Given the description of an element on the screen output the (x, y) to click on. 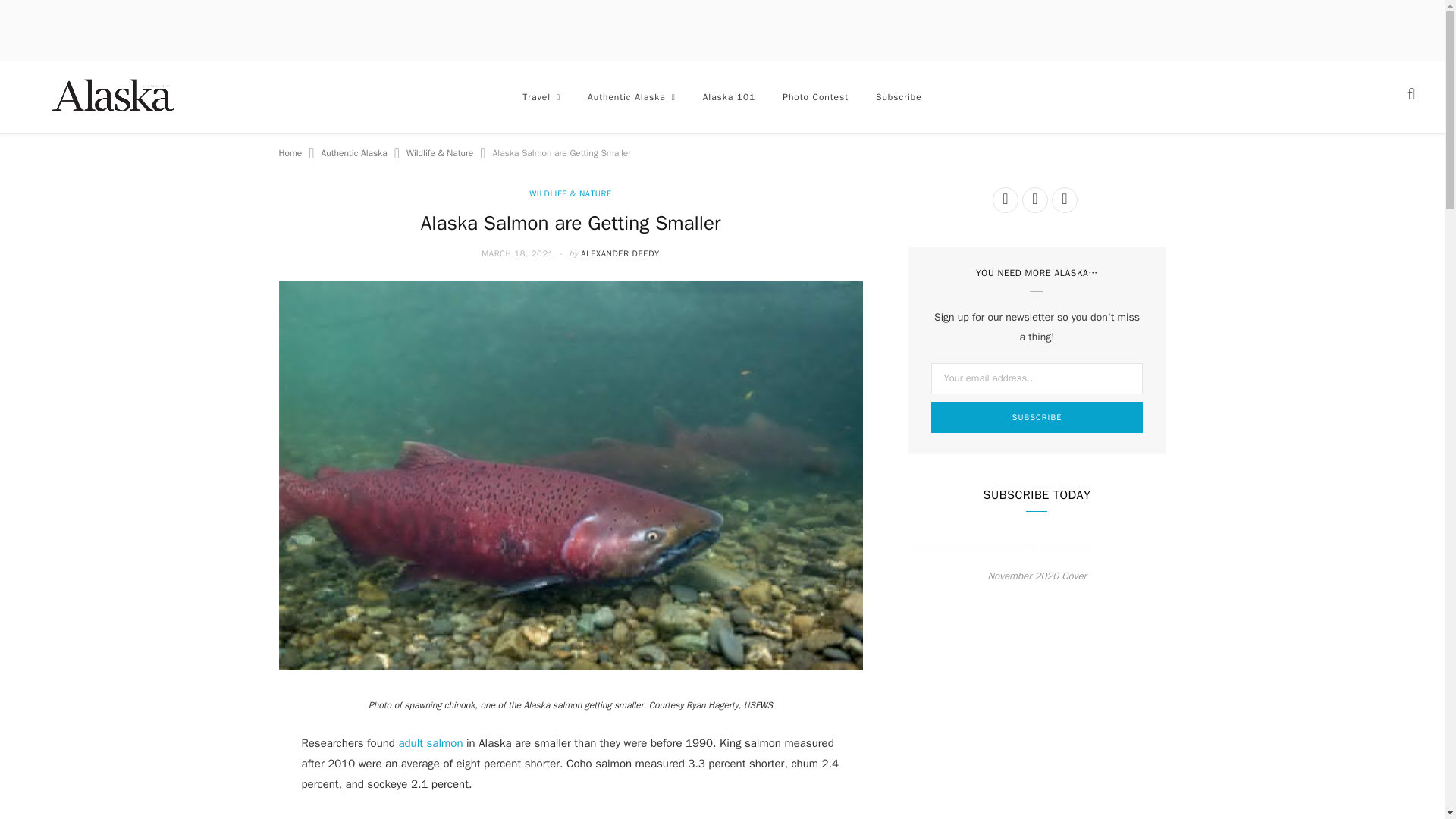
adult salmon (430, 743)
ALEXANDER DEEDY (619, 253)
Authentic Alaska (354, 152)
Home (290, 152)
Photo Contest (814, 96)
Subscribe (898, 96)
Subscribe (1036, 417)
Posts by Alexander Deedy (619, 253)
Travel (540, 96)
Alaska 101 (729, 96)
